Given the description of an element on the screen output the (x, y) to click on. 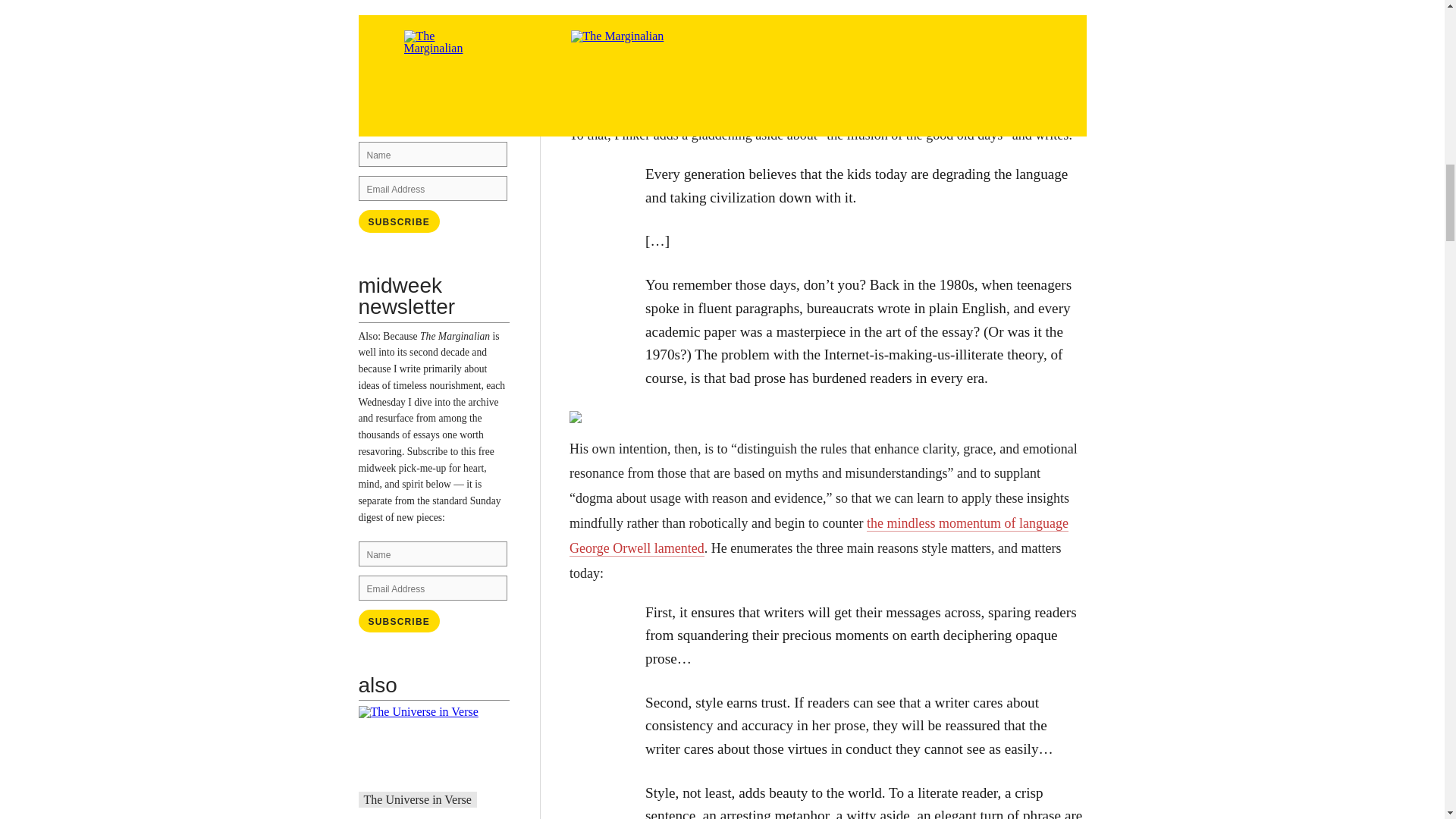
Subscribe (398, 620)
Subscribe (398, 220)
Subscribe (398, 220)
The Universe in Verse (417, 799)
Subscribe (398, 620)
example (449, 101)
